Given the description of an element on the screen output the (x, y) to click on. 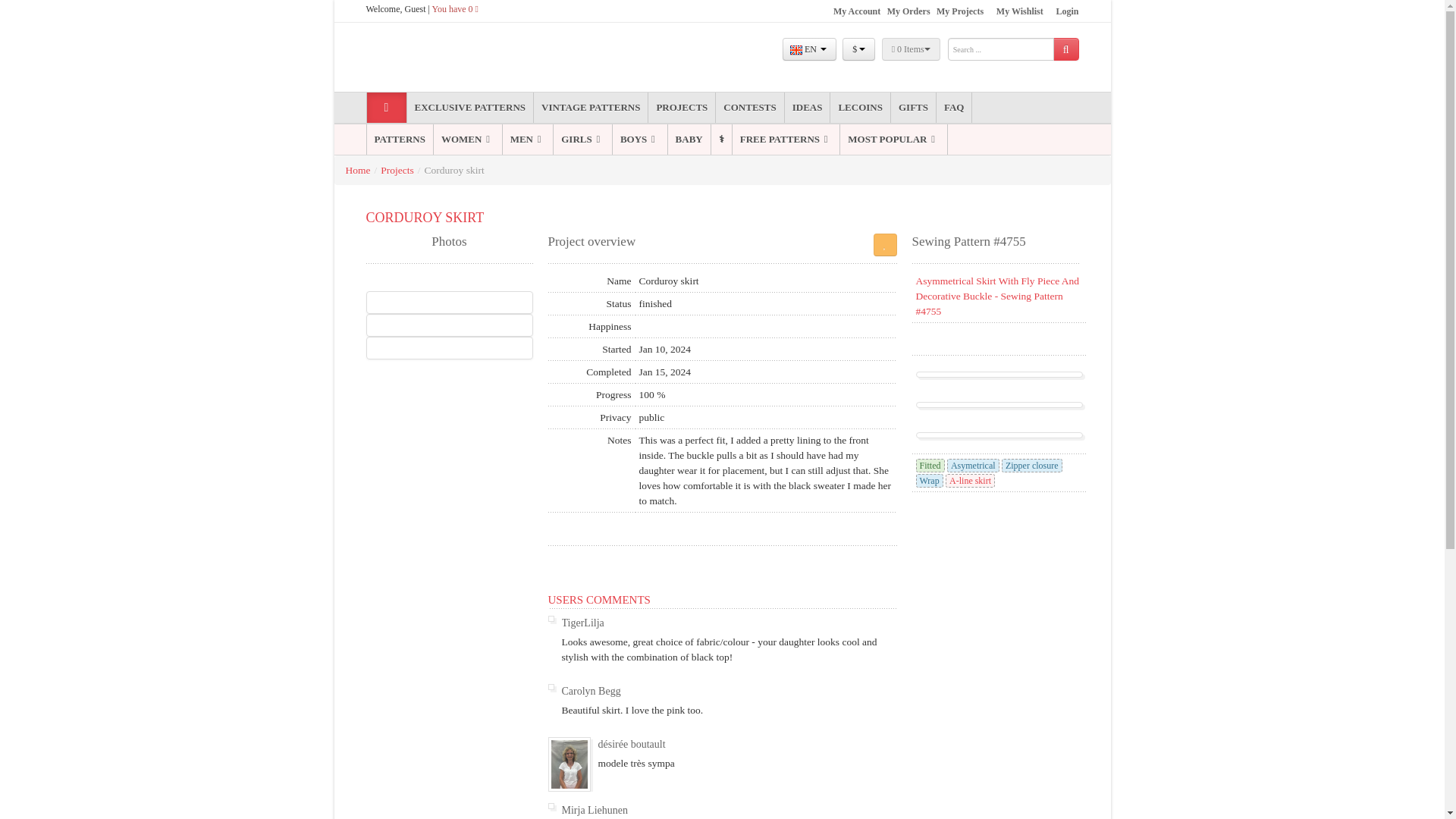
My Projects (960, 10)
PROJECTS (680, 107)
PATTERNS (399, 139)
EN (809, 48)
My Account (856, 10)
GIFTS (913, 107)
Login (1066, 10)
WOMEN (467, 139)
You have 0 (454, 9)
My Wishlist (1019, 10)
0 Items (911, 48)
My Orders (908, 10)
EXCLUSIVE PATTERNS (469, 107)
FAQ (953, 107)
CONTESTS (749, 107)
